Given the description of an element on the screen output the (x, y) to click on. 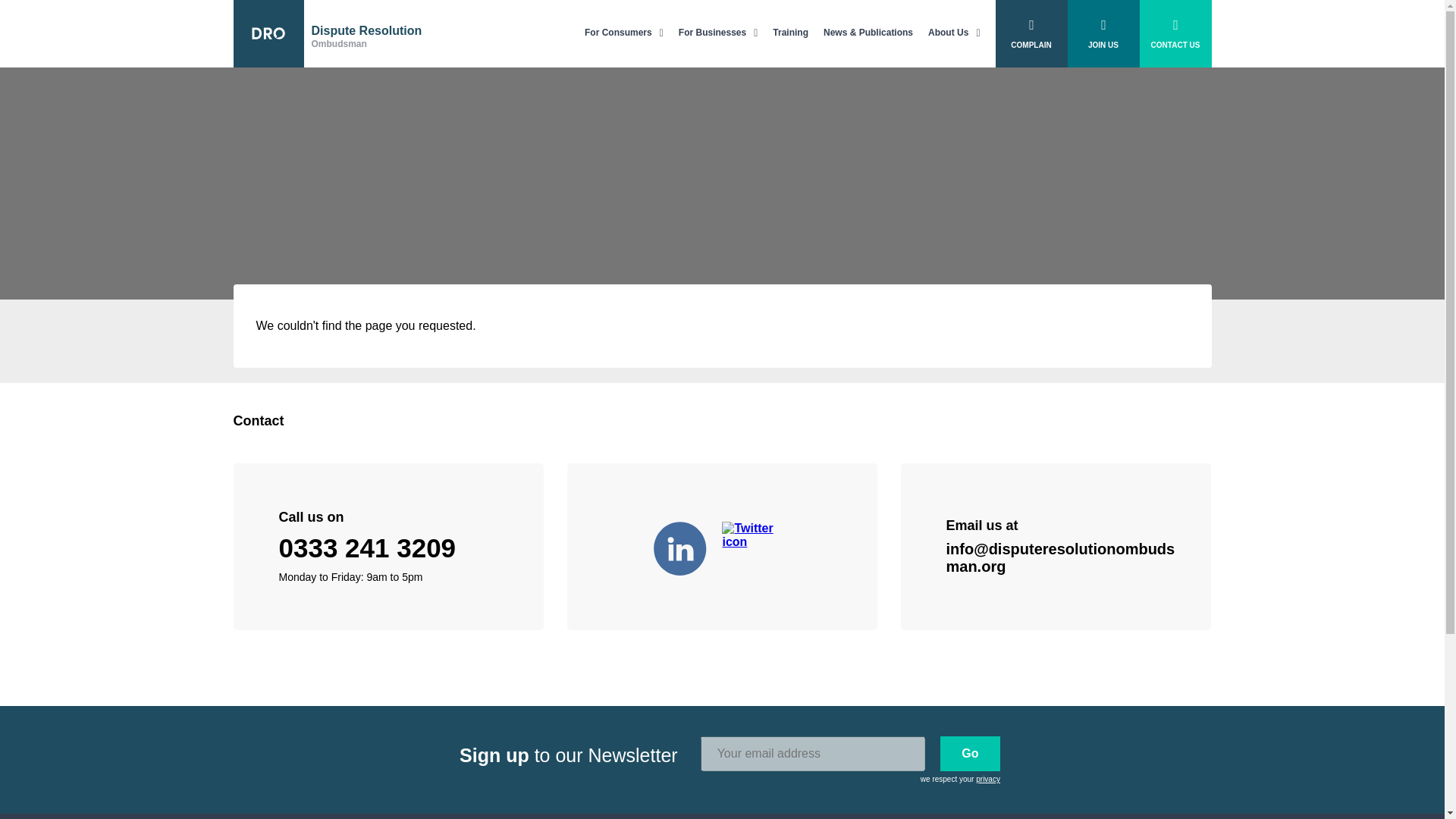
For Businesses (718, 33)
Follow us on Linkedin (687, 546)
COMPLAIN (1030, 33)
0333 241 3209 (368, 547)
CONTACT US (1174, 33)
For Consumers (624, 33)
Training (790, 33)
About Us (953, 33)
Follow us on Twitter (756, 546)
JOIN US (327, 33)
